Given the description of an element on the screen output the (x, y) to click on. 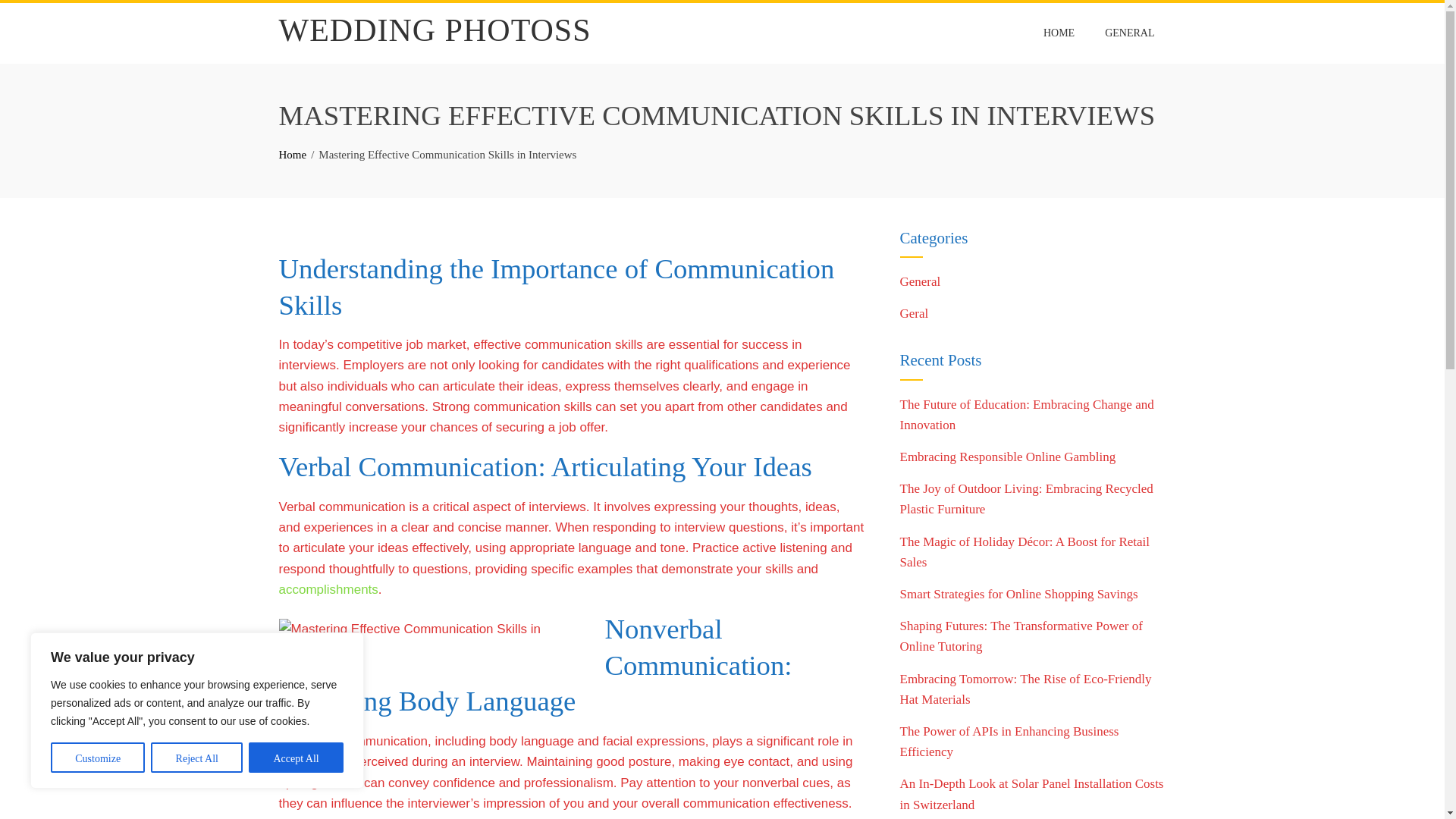
General (919, 281)
Reject All (197, 757)
WEDDING PHOTOSS (435, 30)
Embracing Tomorrow: The Rise of Eco-Friendly Hat Materials (1025, 688)
Home (293, 154)
Shaping Futures: The Transformative Power of Online Tutoring (1020, 636)
Accept All (295, 757)
Smart Strategies for Online Shopping Savings (1018, 594)
The Power of APIs in Enhancing Business Efficiency (1008, 741)
